Given the description of an element on the screen output the (x, y) to click on. 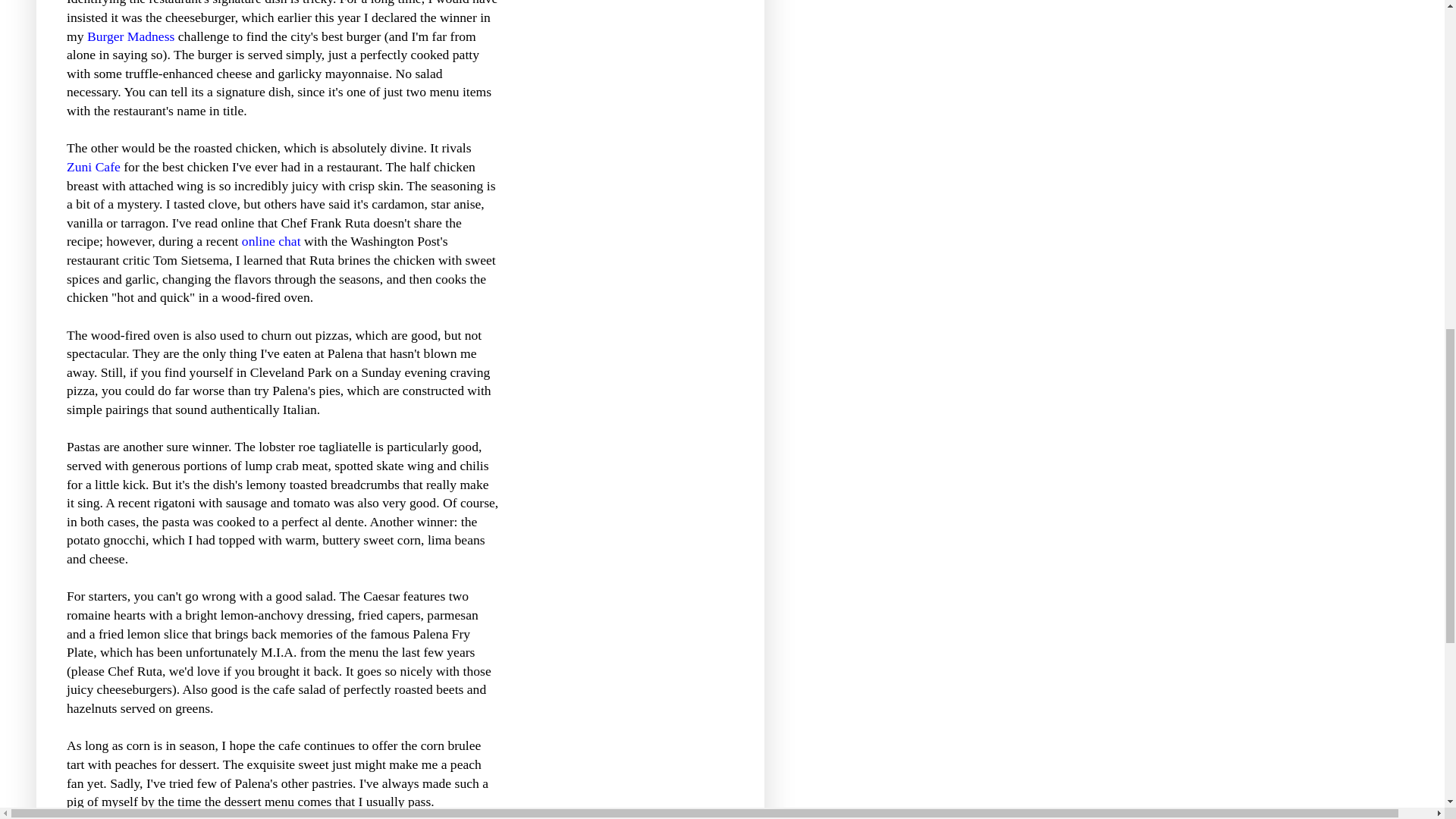
online chat (271, 240)
Zuni Cafe (93, 166)
Burger Madness (130, 36)
